Given the description of an element on the screen output the (x, y) to click on. 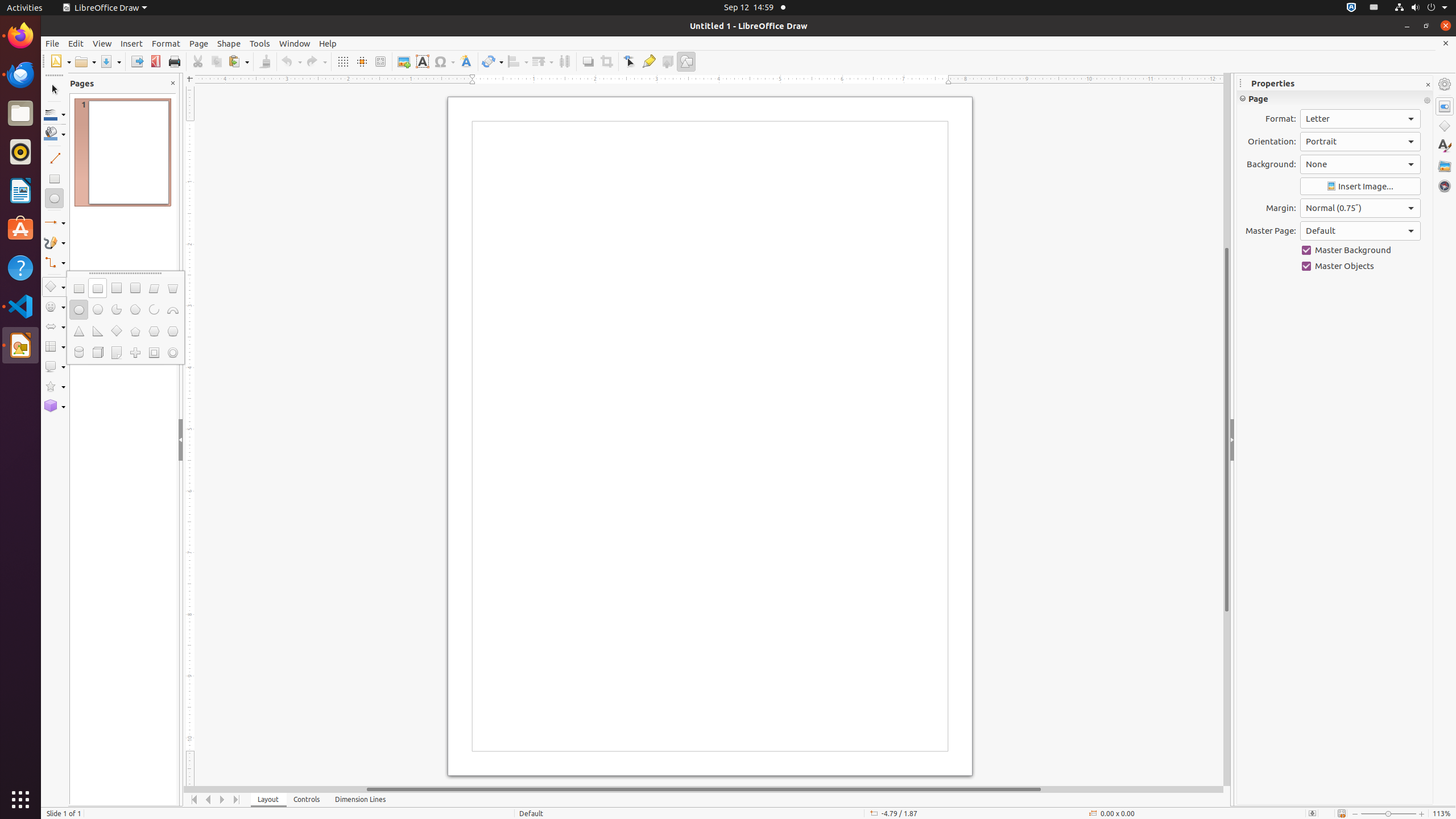
Fontwork Style Element type: toggle-button (465, 61)
Move Right Element type: push-button (222, 799)
Text Box Element type: push-button (421, 61)
Horizontal Ruler Element type: ruler (703, 79)
